Given the description of an element on the screen output the (x, y) to click on. 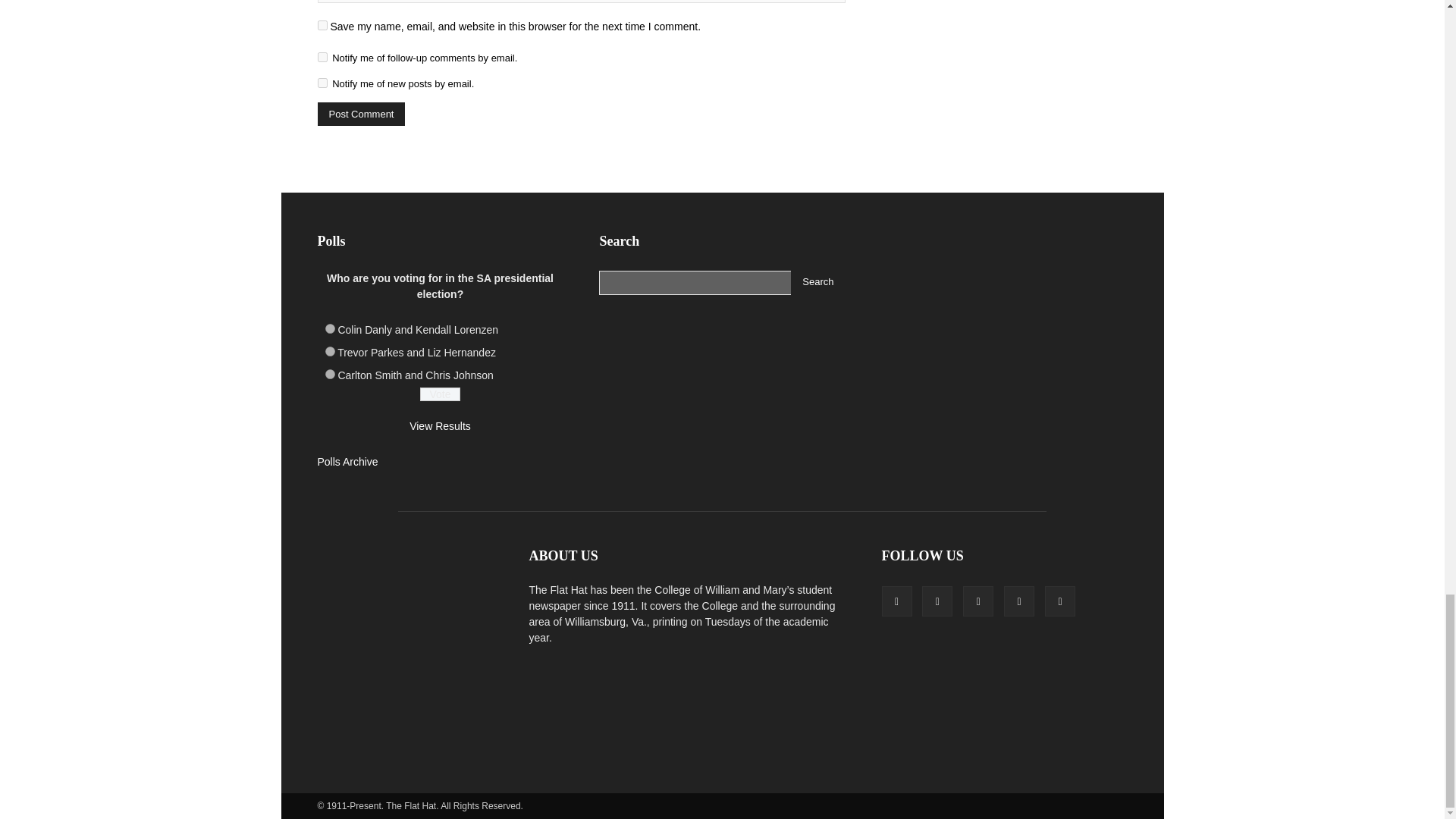
yes (321, 25)
104 (329, 328)
   Vote    (440, 394)
Post Comment (360, 114)
subscribe (321, 57)
105 (329, 351)
106 (329, 374)
Search (817, 282)
subscribe (321, 82)
